Given the description of an element on the screen output the (x, y) to click on. 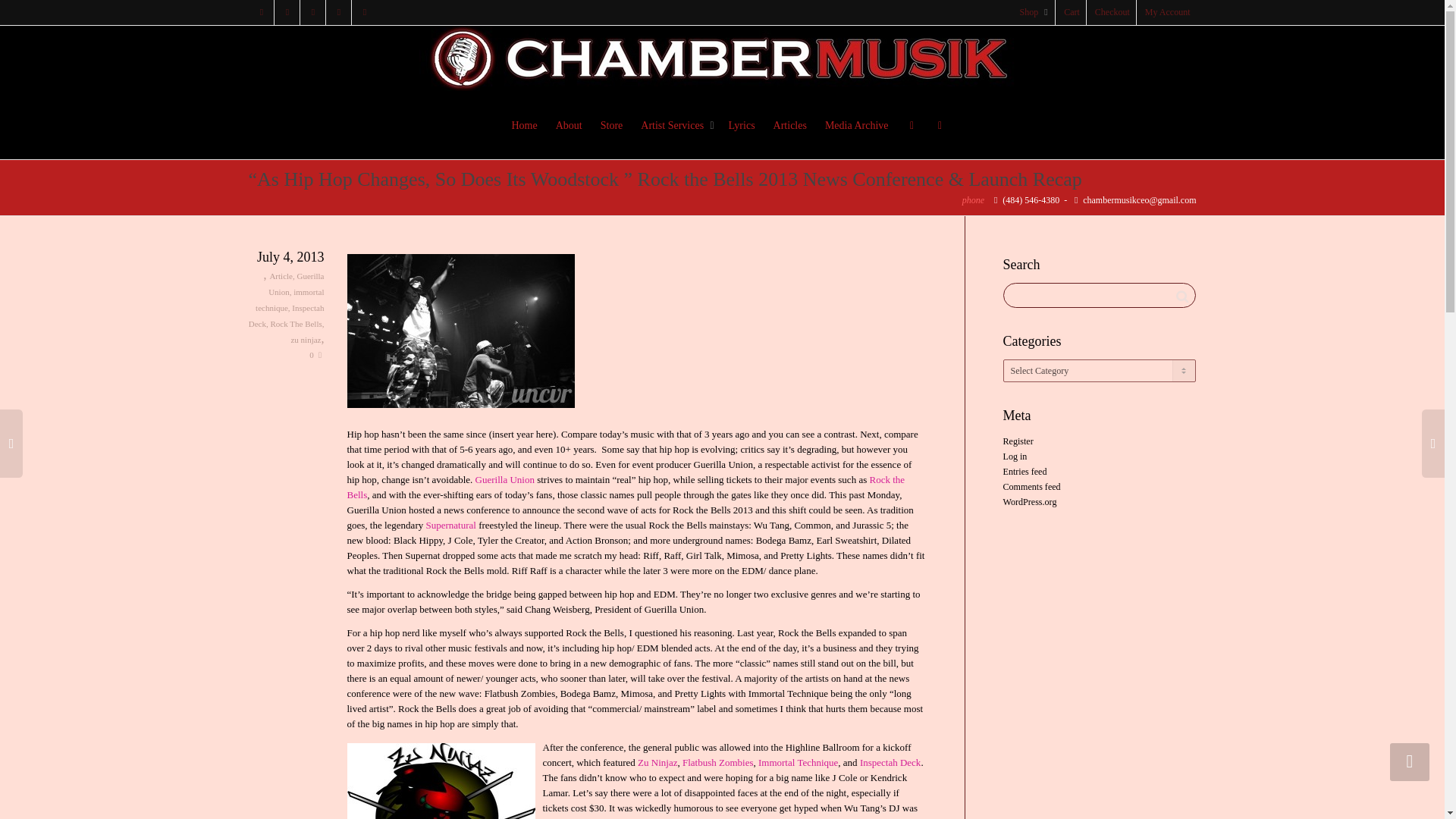
Article (280, 275)
Media Archive (856, 125)
Search (1181, 295)
Cart (1072, 12)
Artist Services (675, 125)
Shop (1034, 12)
Cart (1072, 12)
Checkout (1113, 12)
Search (1181, 295)
Checkout (1113, 12)
My Account (1167, 12)
July 4, 2013 (286, 257)
Artist Services (675, 125)
Chambermusik (722, 57)
My Account (1167, 12)
